Given the description of an element on the screen output the (x, y) to click on. 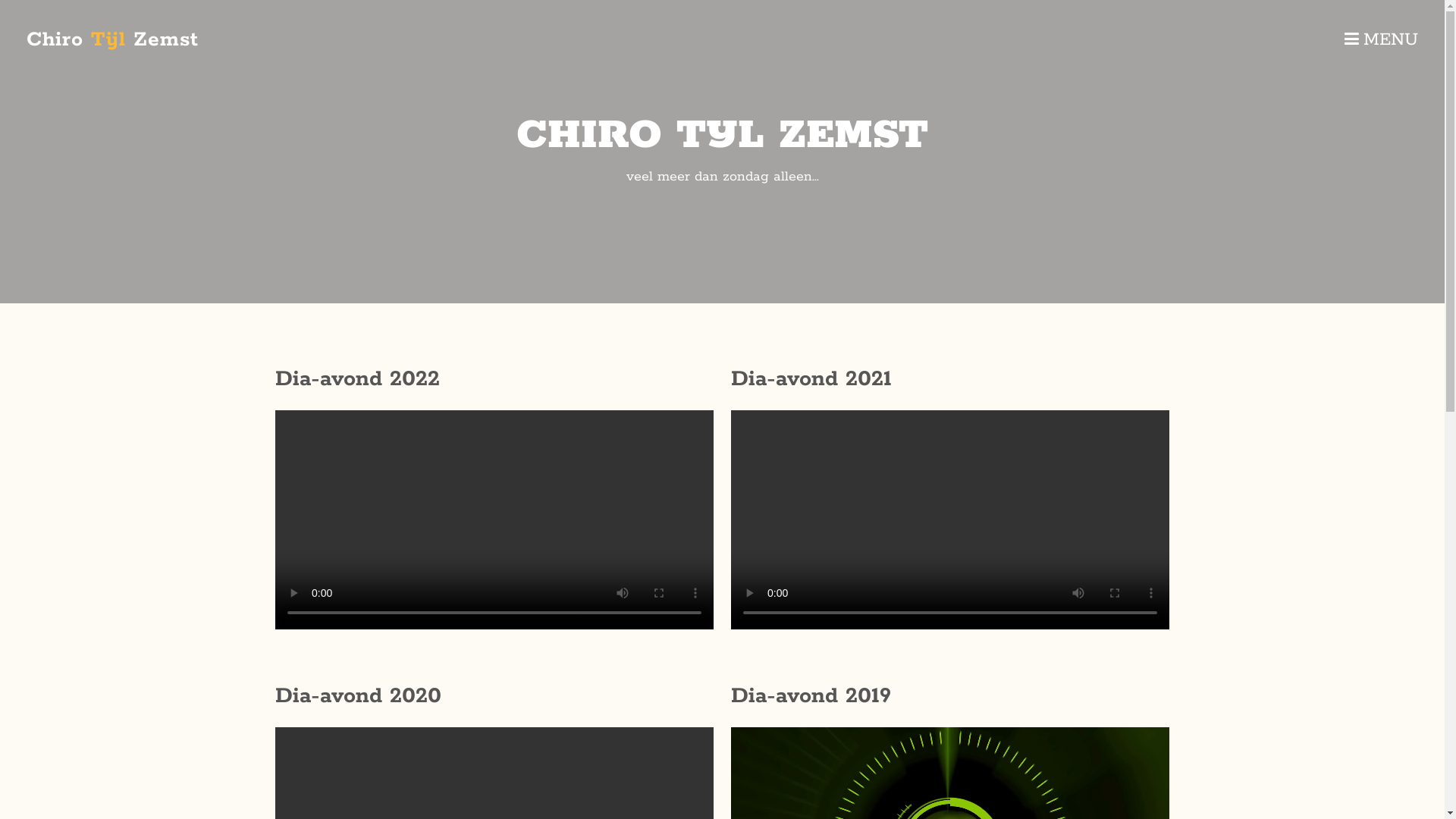
MENU Element type: text (1381, 39)
Chiro Tijl Zemst Element type: text (112, 39)
